Given the description of an element on the screen output the (x, y) to click on. 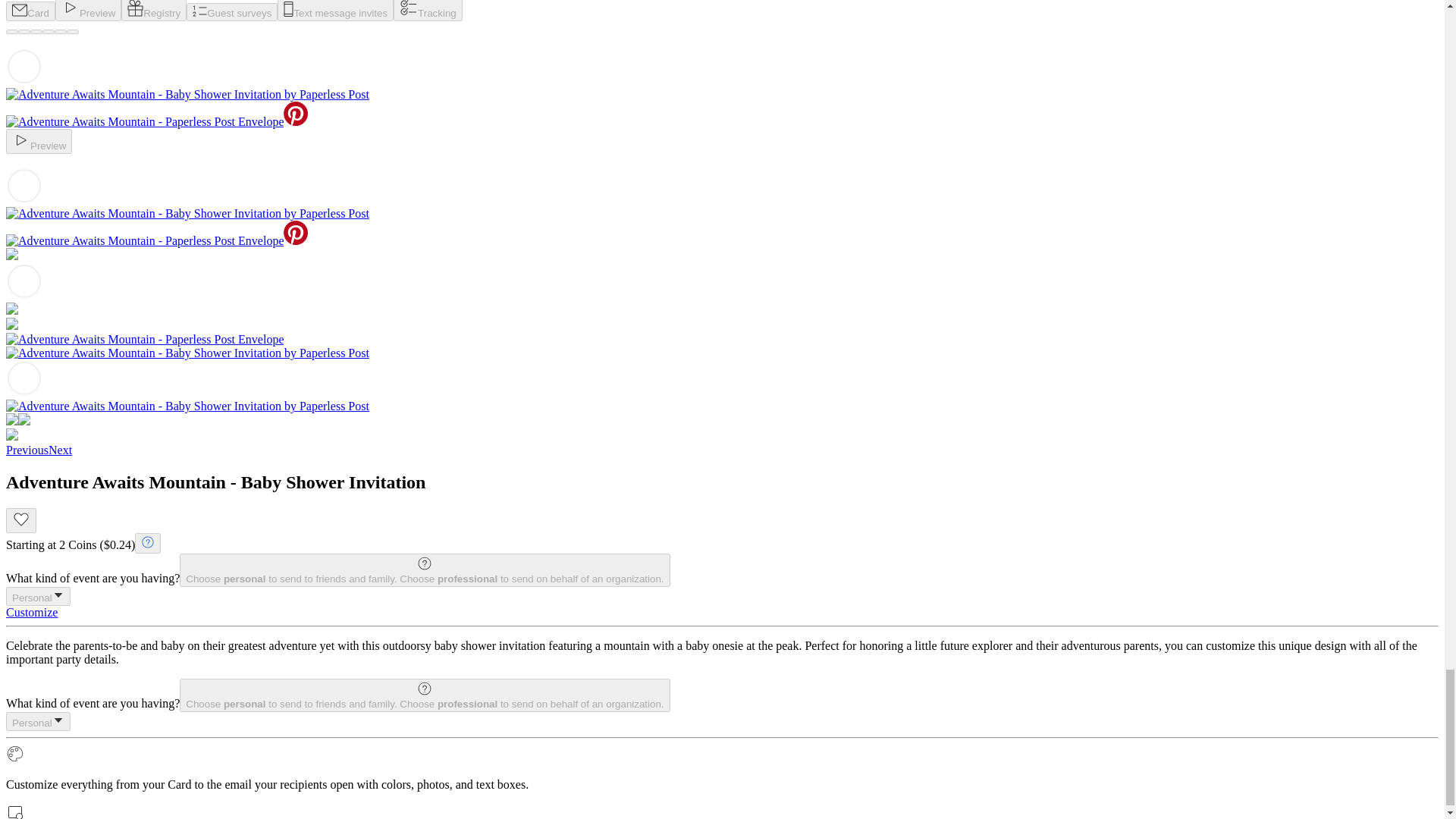
tracking icon (407, 8)
Registry icon (135, 8)
Guest surveys icon (199, 10)
Pinterest icon (295, 113)
Loading... (23, 66)
Closed envelope (19, 10)
play icon (20, 140)
play icon (70, 8)
